Given the description of an element on the screen output the (x, y) to click on. 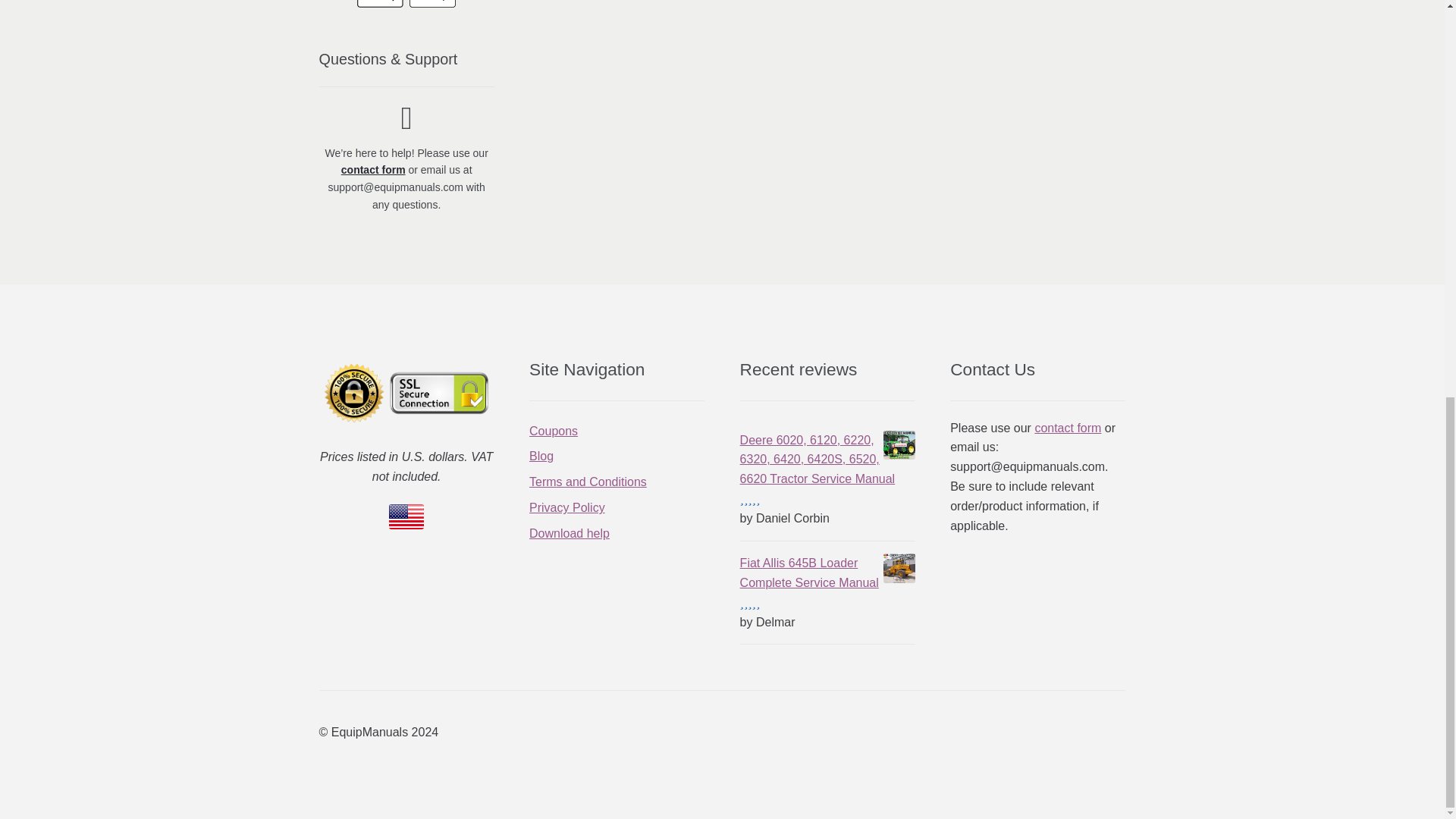
Terms and Conditions (587, 481)
Blog (541, 455)
contact form (373, 169)
Download help (569, 533)
contact form (1066, 427)
Coupons (553, 431)
Privacy Policy (567, 507)
Fiat Allis 645B Loader Complete Service Manual (827, 572)
